Given the description of an element on the screen output the (x, y) to click on. 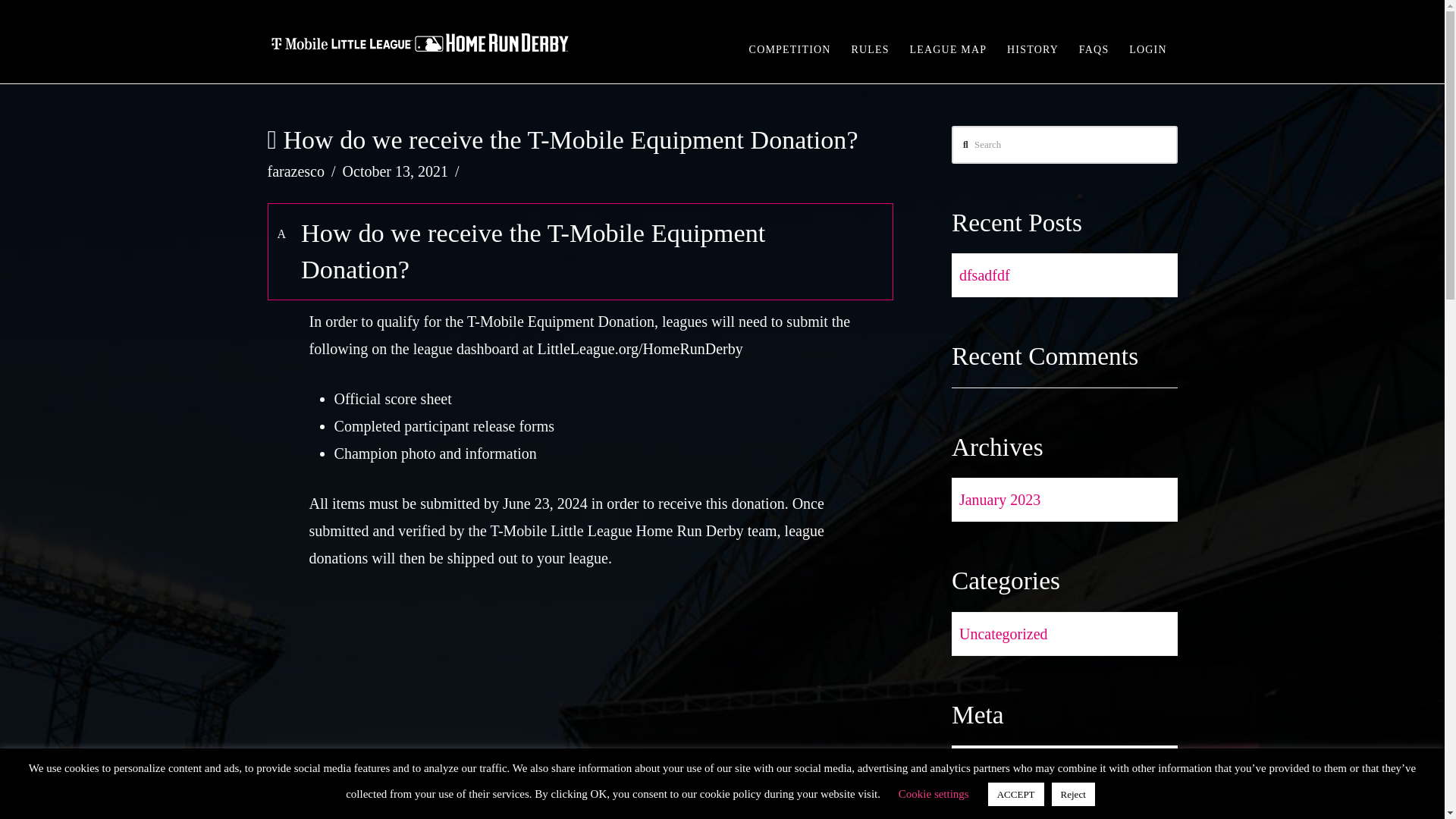
January 2023 (996, 499)
Log in (975, 767)
LEAGUE MAP (948, 41)
dfsadfdf (981, 274)
Entries feed (992, 810)
COMPETITION (790, 41)
Uncategorized (1000, 633)
